Given the description of an element on the screen output the (x, y) to click on. 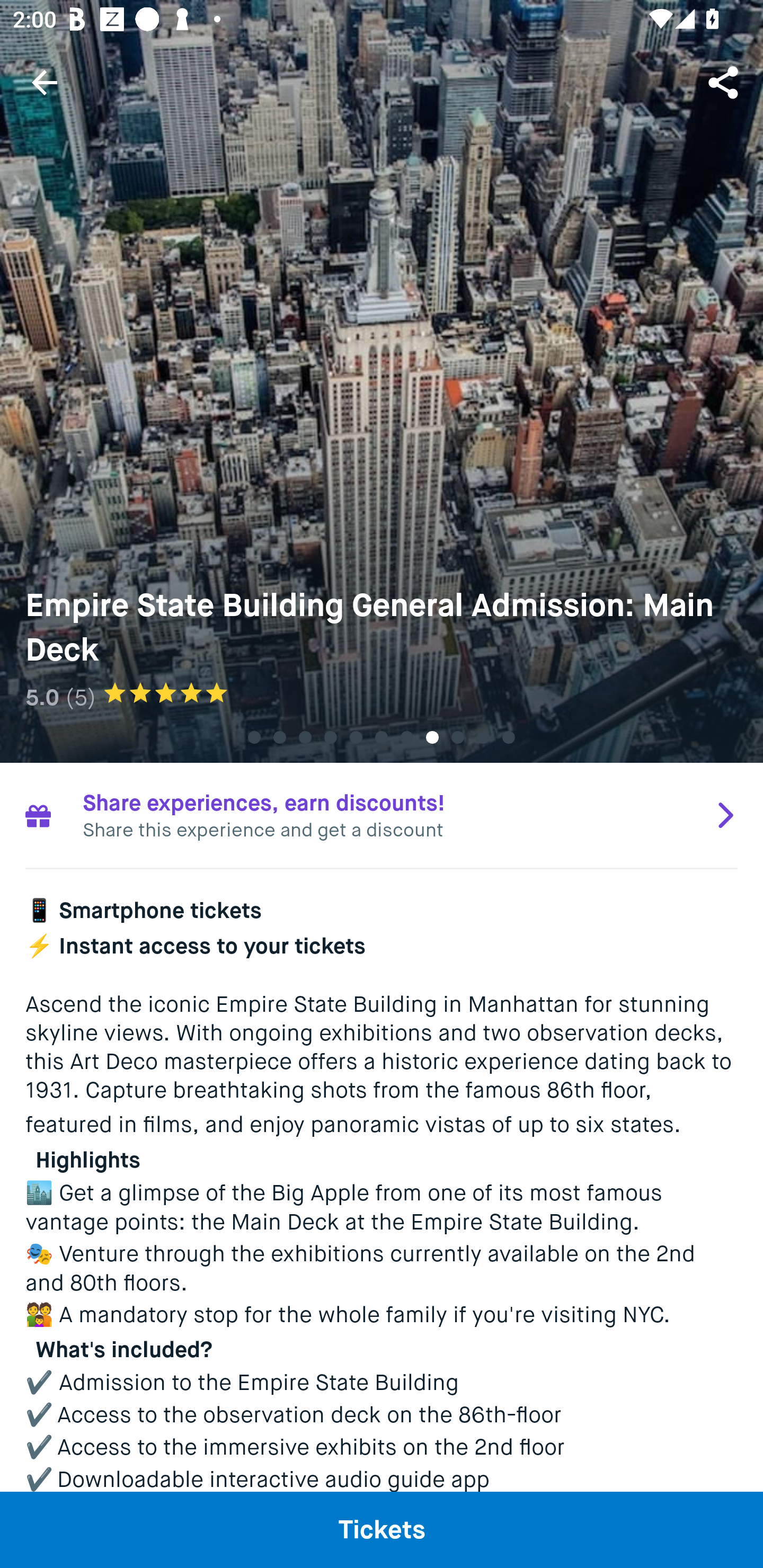
Navigate up (44, 82)
Share (724, 81)
(5) (80, 697)
Tickets (381, 1529)
